Given the description of an element on the screen output the (x, y) to click on. 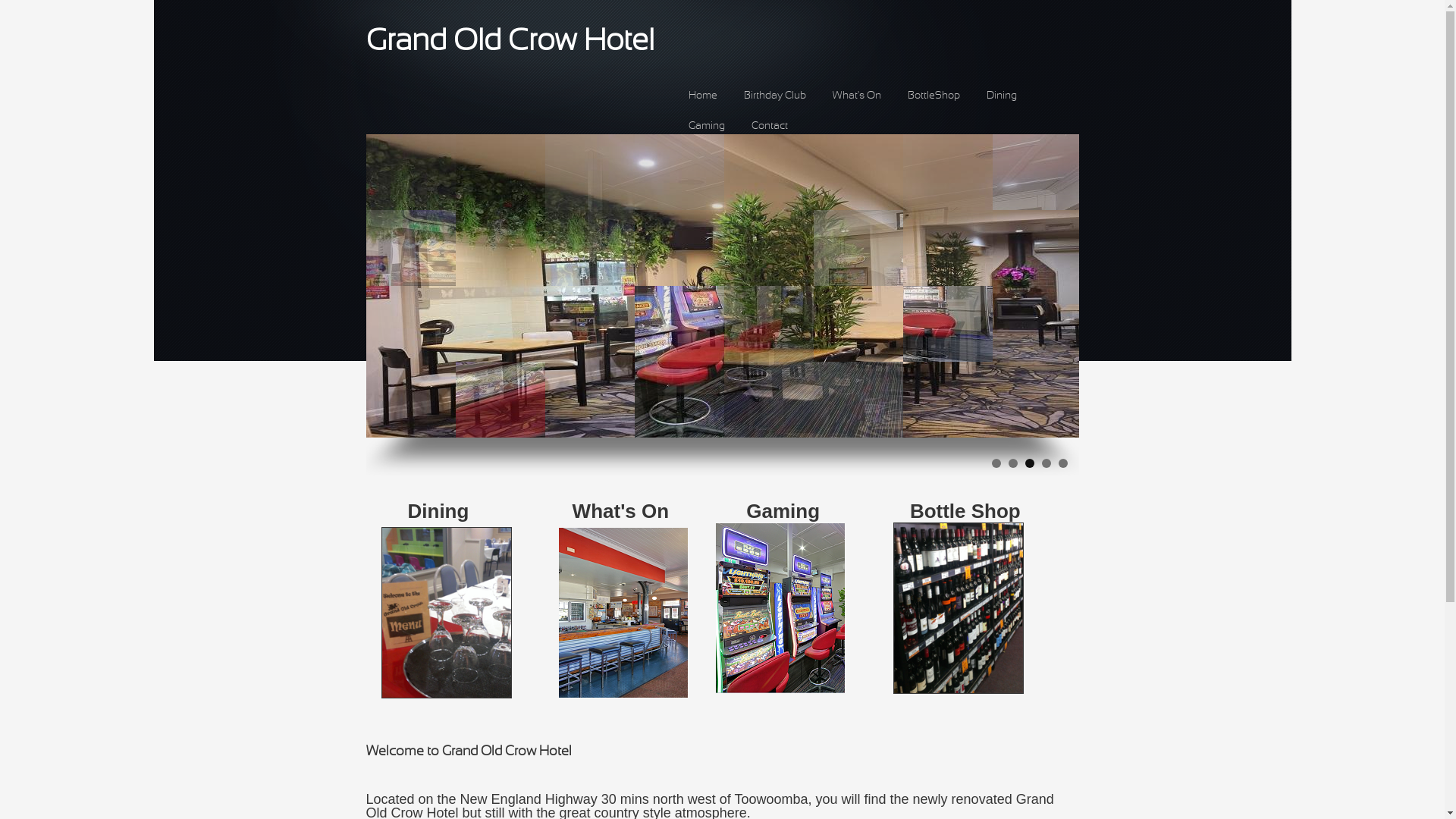
4 Element type: text (1046, 462)
                  Element type: text (1044, 690)
Home Element type: text (702, 96)
Birthday Club Element type: text (773, 96)
2 Element type: text (1012, 462)
1 Element type: text (996, 462)
Contact Element type: text (768, 126)
Gaming Element type: text (706, 126)
    Element type: text (514, 695)
    Element type: text (888, 690)
Grand Old Crow Hotel Element type: text (509, 42)
Skip to main content Element type: text (41, 0)
BottleShop Element type: text (932, 96)
Dining Element type: text (1000, 96)
What's On Element type: text (856, 96)
3 Element type: text (1029, 462)
5 Element type: text (1062, 462)
